Given the description of an element on the screen output the (x, y) to click on. 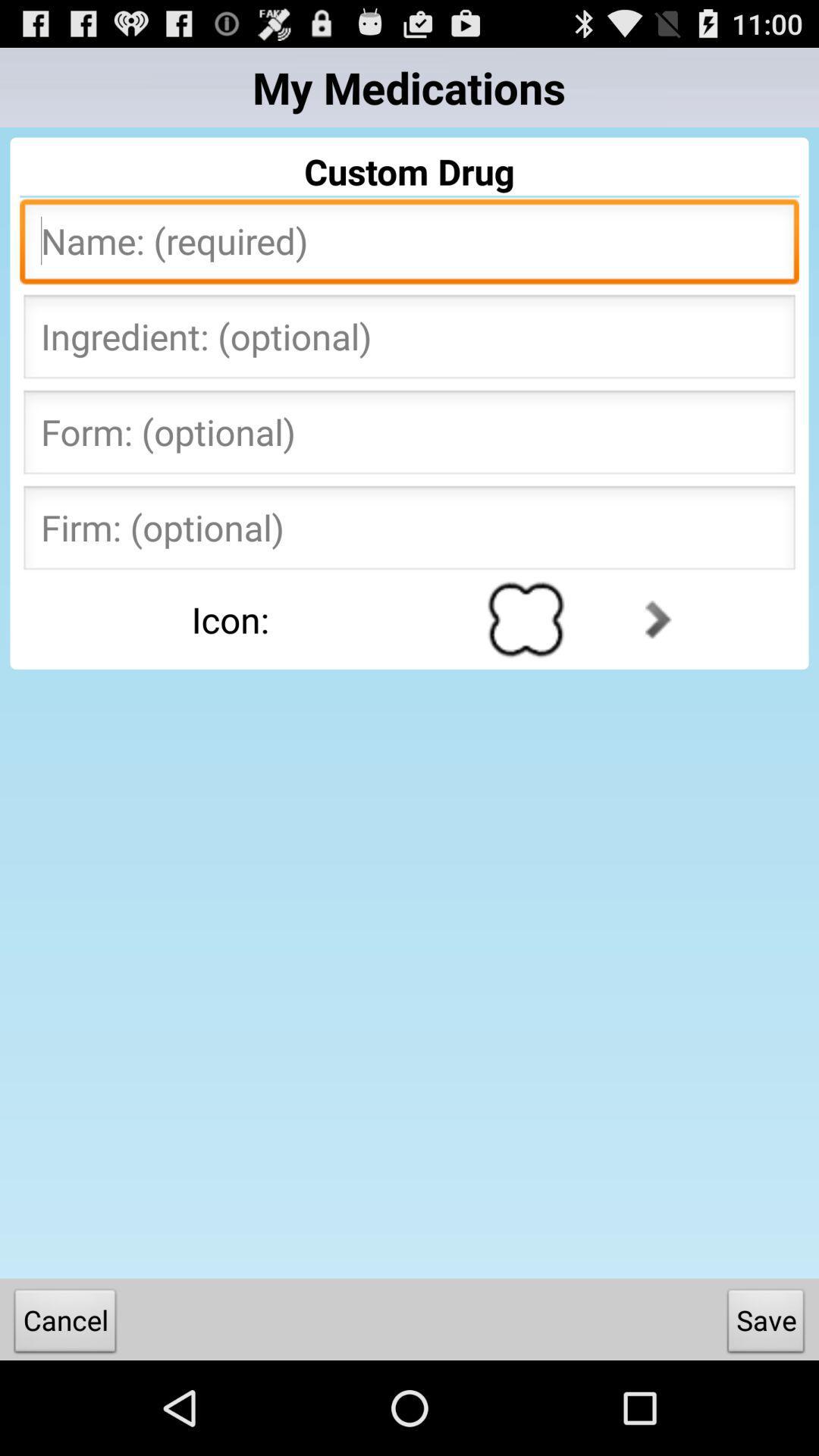
press the button at the bottom left corner (65, 1324)
